Given the description of an element on the screen output the (x, y) to click on. 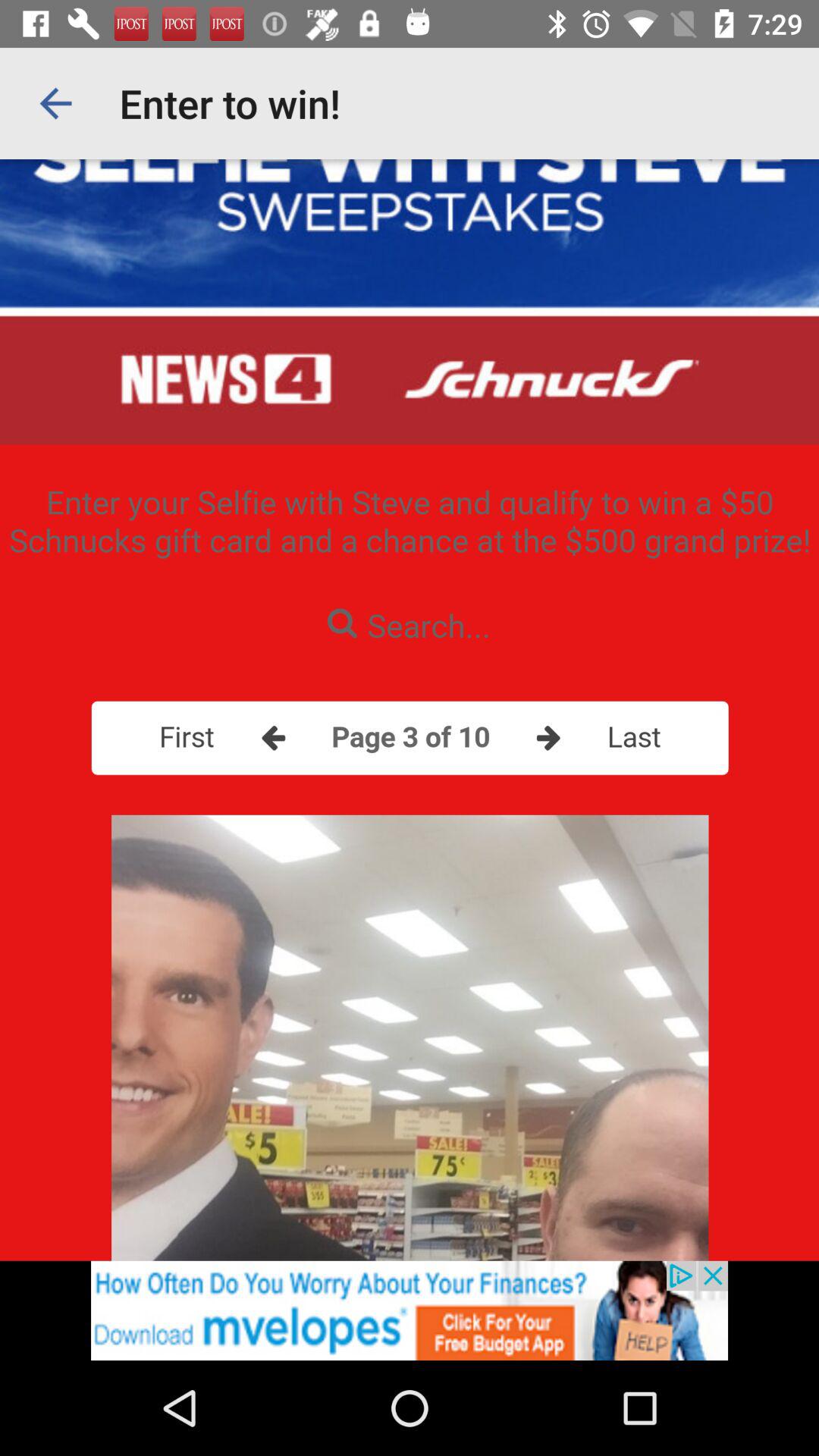
advertisement (409, 1310)
